Given the description of an element on the screen output the (x, y) to click on. 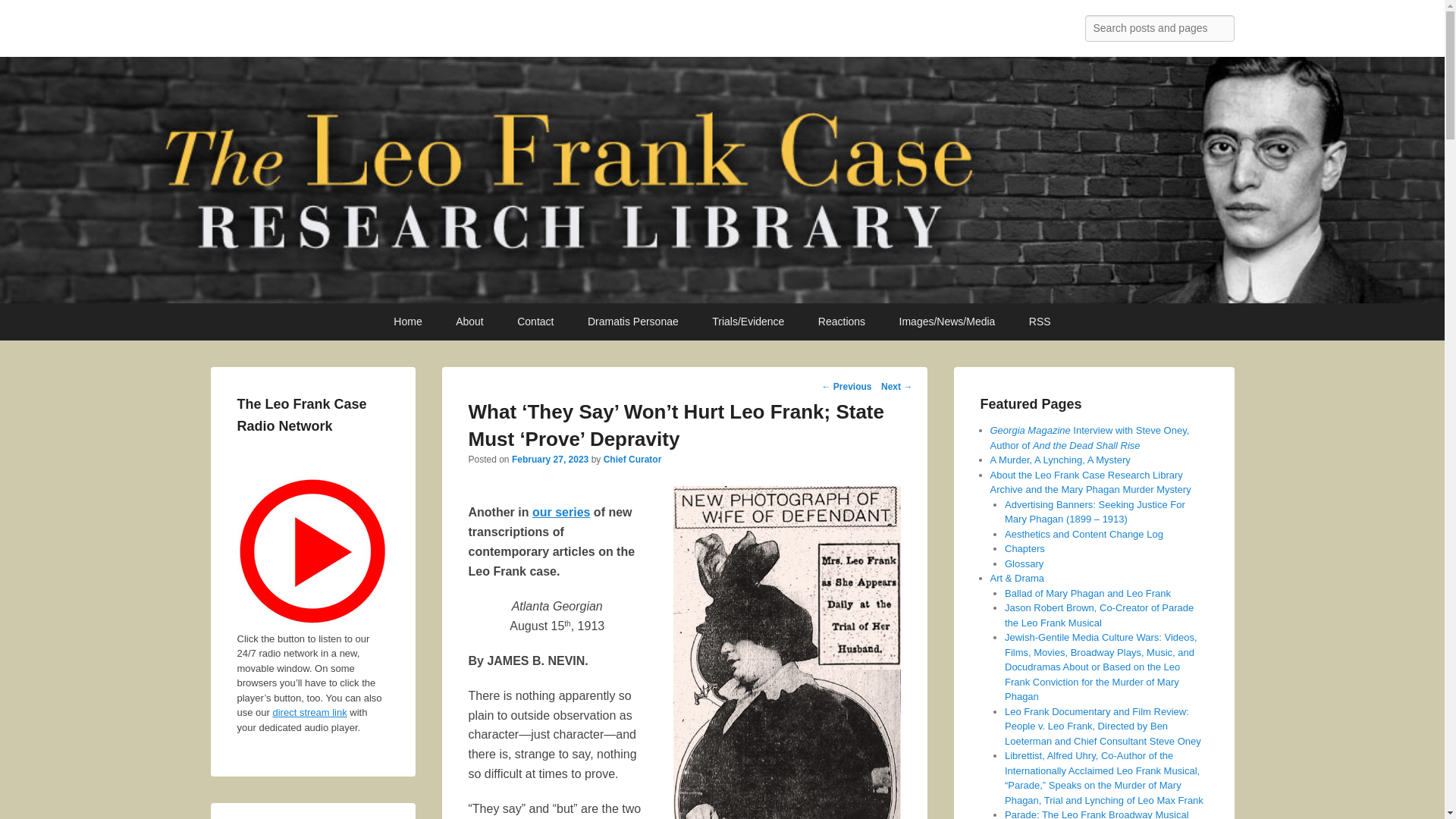
View all posts by Chief Curator (633, 459)
Search (24, 14)
The Leo Frank Case Research Library (455, 31)
Click to open audio player in new, movable window (311, 551)
Dramatis Personae (633, 321)
Home (407, 321)
About (470, 321)
The Leo Frank Case Research Library (455, 31)
Contact (535, 321)
10:24 PM (550, 459)
